Given the description of an element on the screen output the (x, y) to click on. 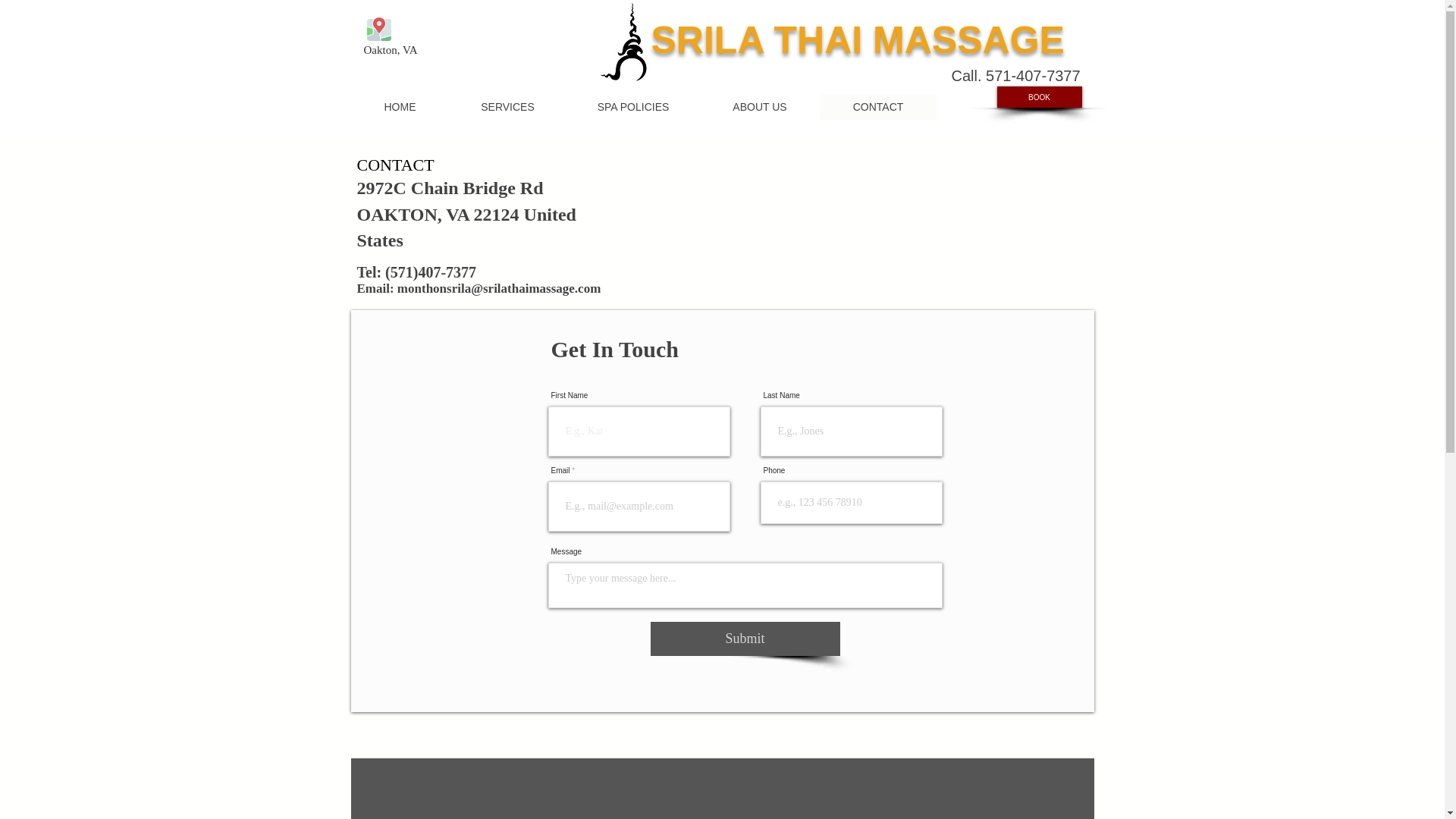
BOOK (1038, 96)
SPA POLICIES (632, 107)
Submit (745, 638)
SRILA THAI MASSAGE (857, 39)
HOME (400, 107)
Google Maps (722, 791)
SERVICES (507, 107)
CONTACT (877, 107)
ABOUT US (758, 107)
